Given the description of an element on the screen output the (x, y) to click on. 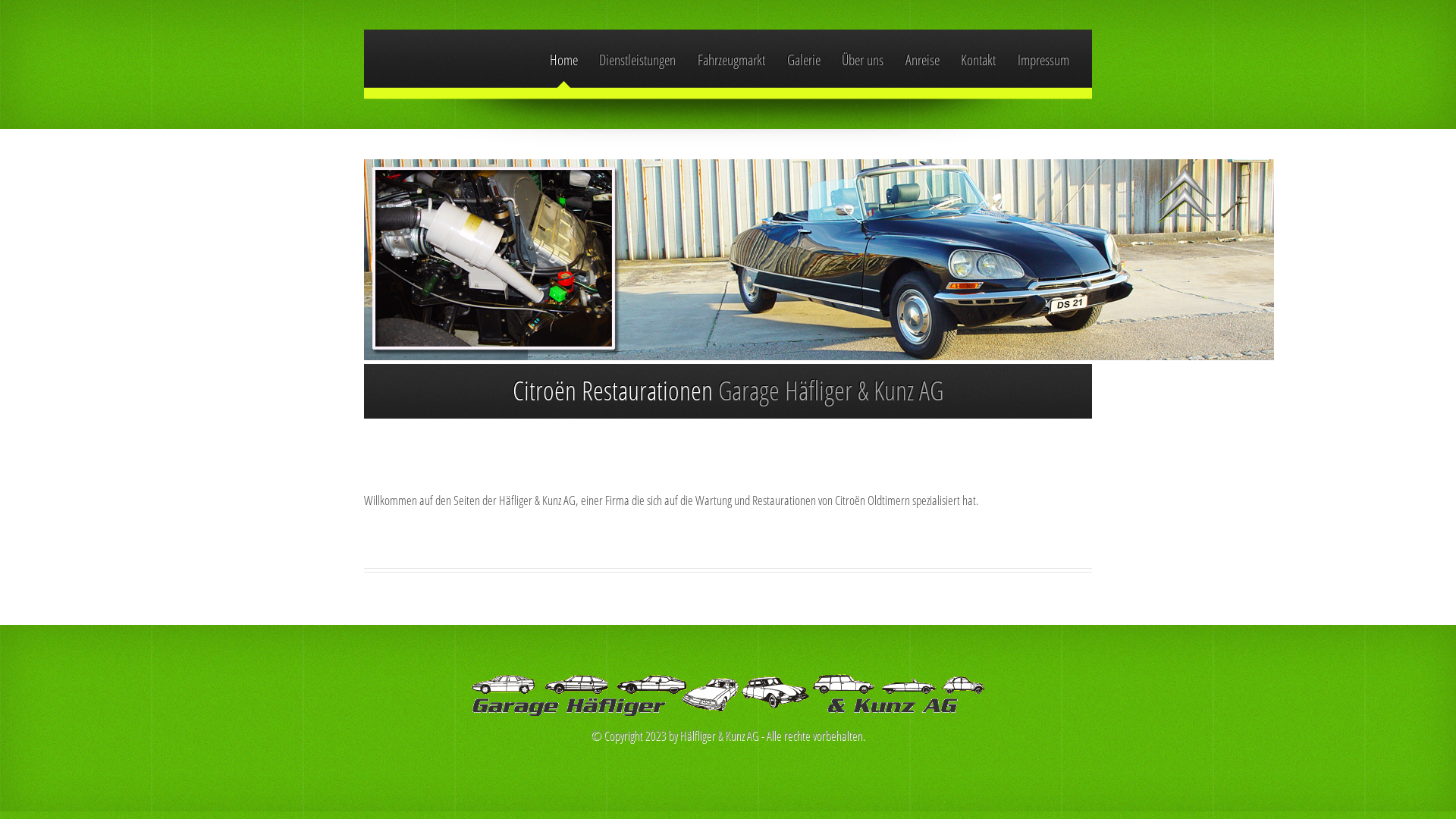
Dienstleistungen Element type: text (637, 59)
Fahrzeugmarkt Element type: text (731, 59)
Impressum Element type: text (1043, 59)
Galerie Element type: text (803, 59)
Anreise Element type: text (922, 59)
Home Element type: text (563, 59)
Kontakt Element type: text (977, 59)
